Given the description of an element on the screen output the (x, y) to click on. 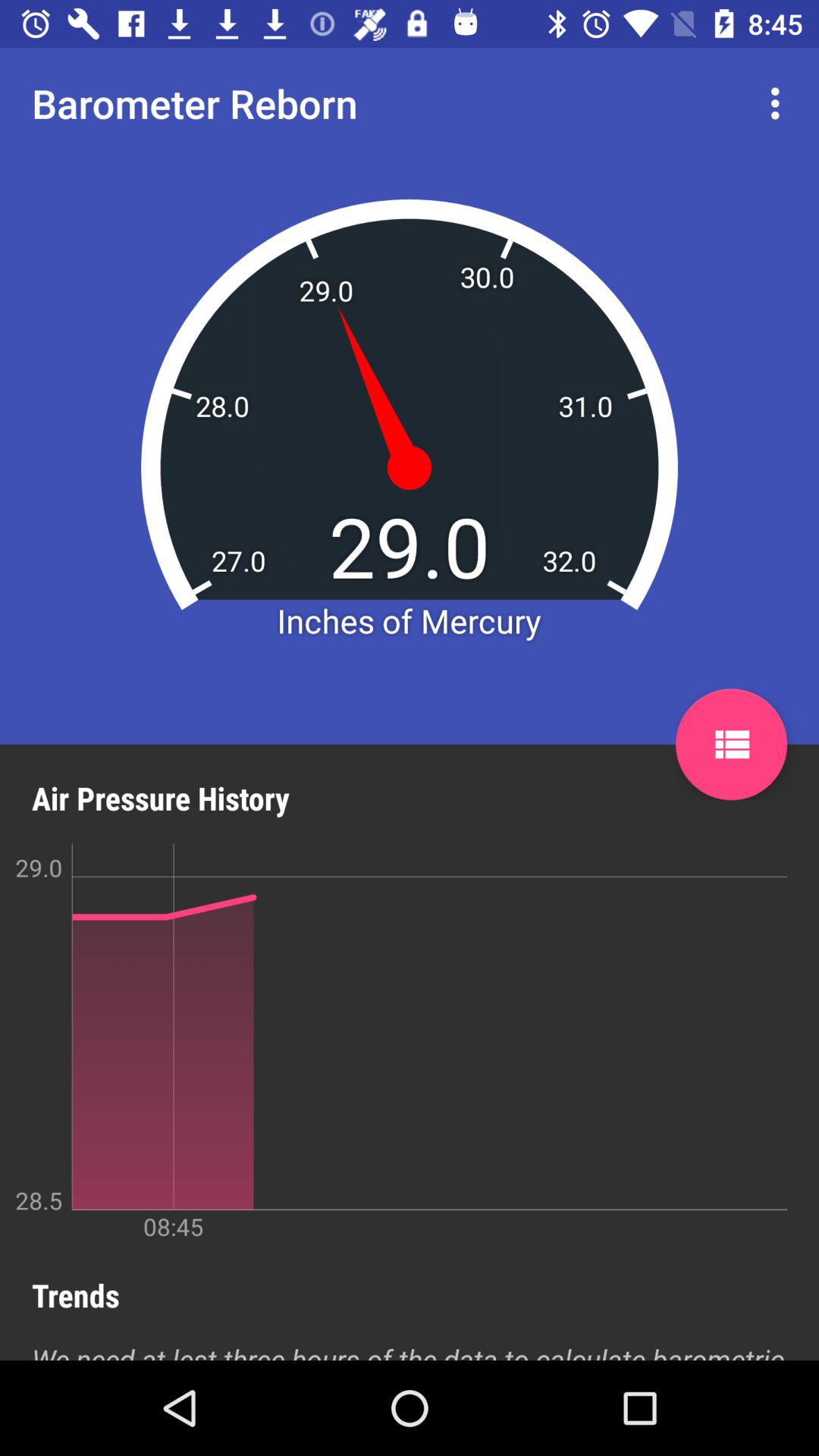
click the item to the right of air pressure history item (731, 744)
